Given the description of an element on the screen output the (x, y) to click on. 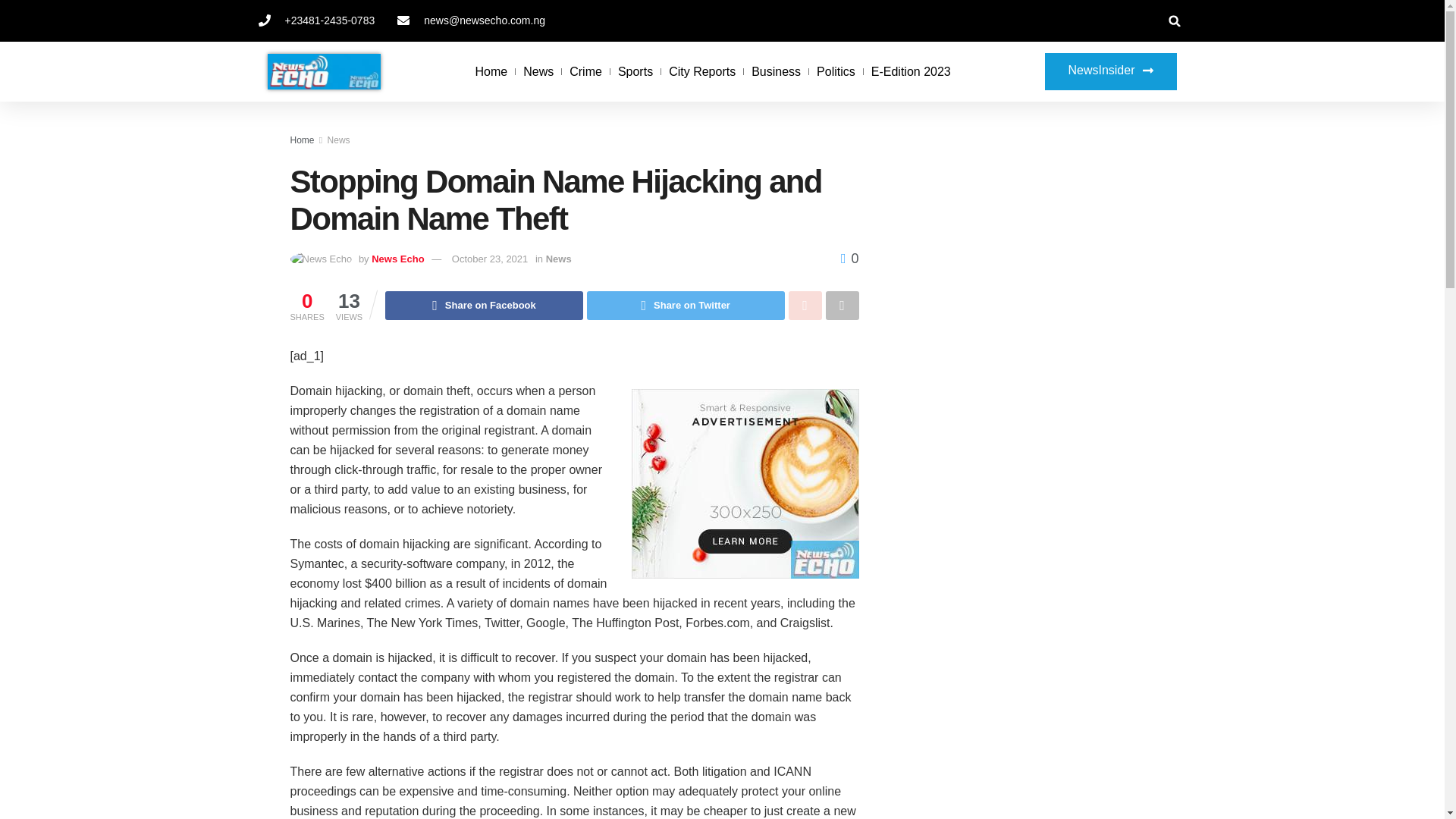
Crime (585, 70)
Business (775, 70)
E-Edition 2023 (910, 70)
Advertisement (1023, 491)
City Reports (701, 70)
Home (492, 70)
Sports (634, 70)
News (537, 70)
Advertisement (1023, 245)
Politics (836, 70)
NewsInsider (1110, 71)
